Given the description of an element on the screen output the (x, y) to click on. 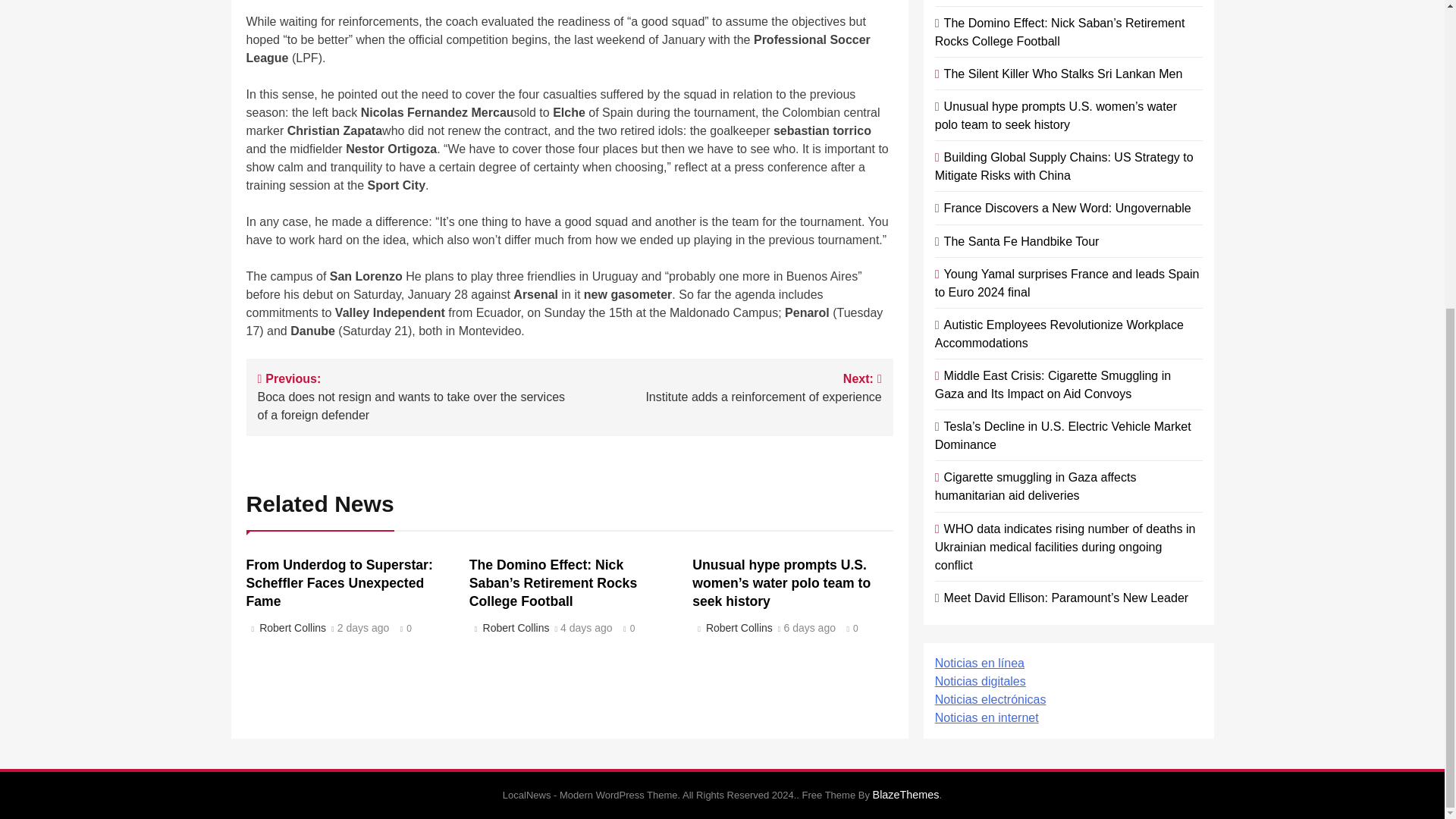
Robert Collins (513, 627)
Robert Collins (290, 627)
4 days ago (586, 628)
2 days ago (725, 386)
From Underdog to Superstar: Scheffler Faces Unexpected Fame (363, 628)
